Given the description of an element on the screen output the (x, y) to click on. 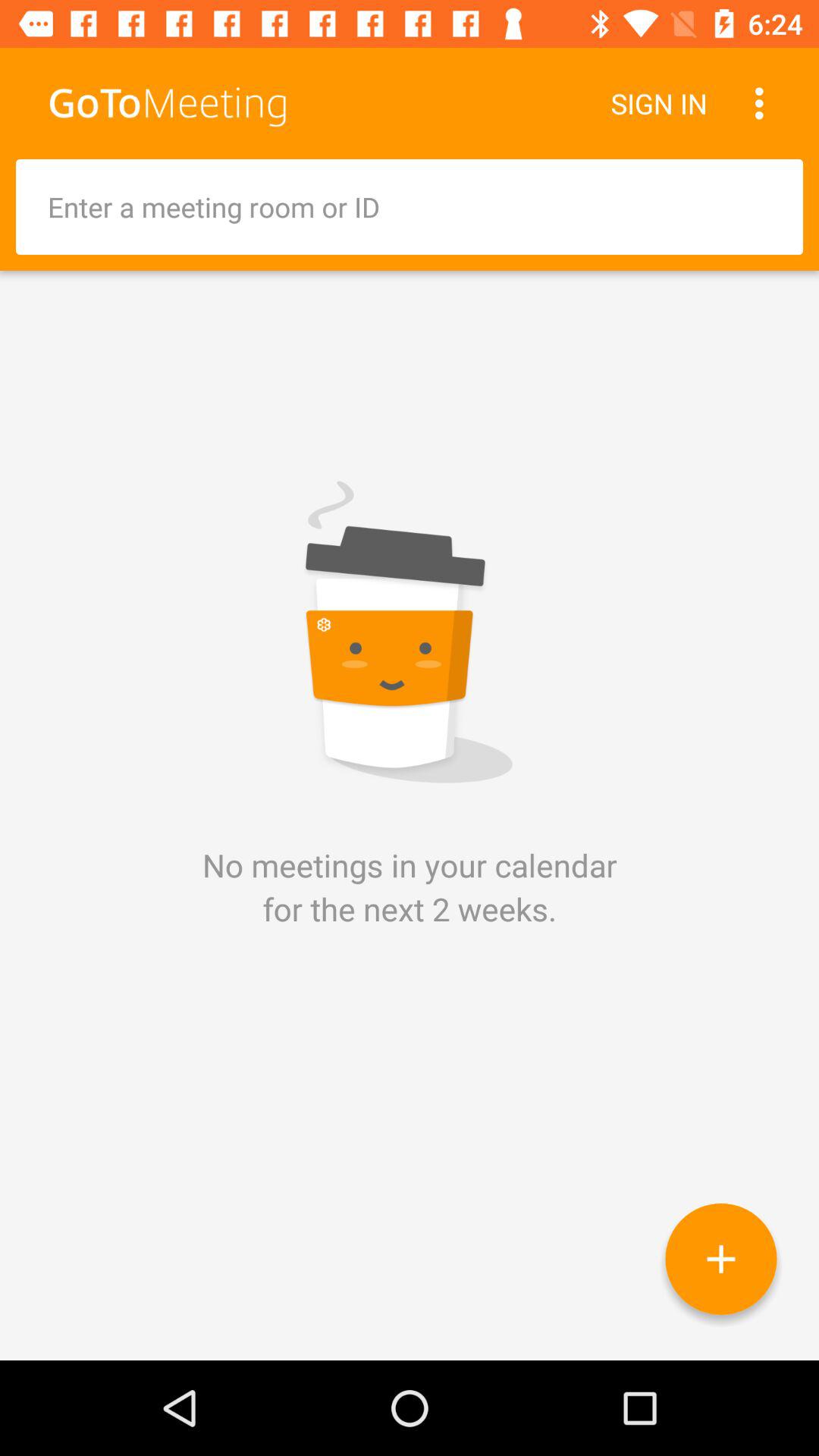
turn on the sign in (658, 103)
